Given the description of an element on the screen output the (x, y) to click on. 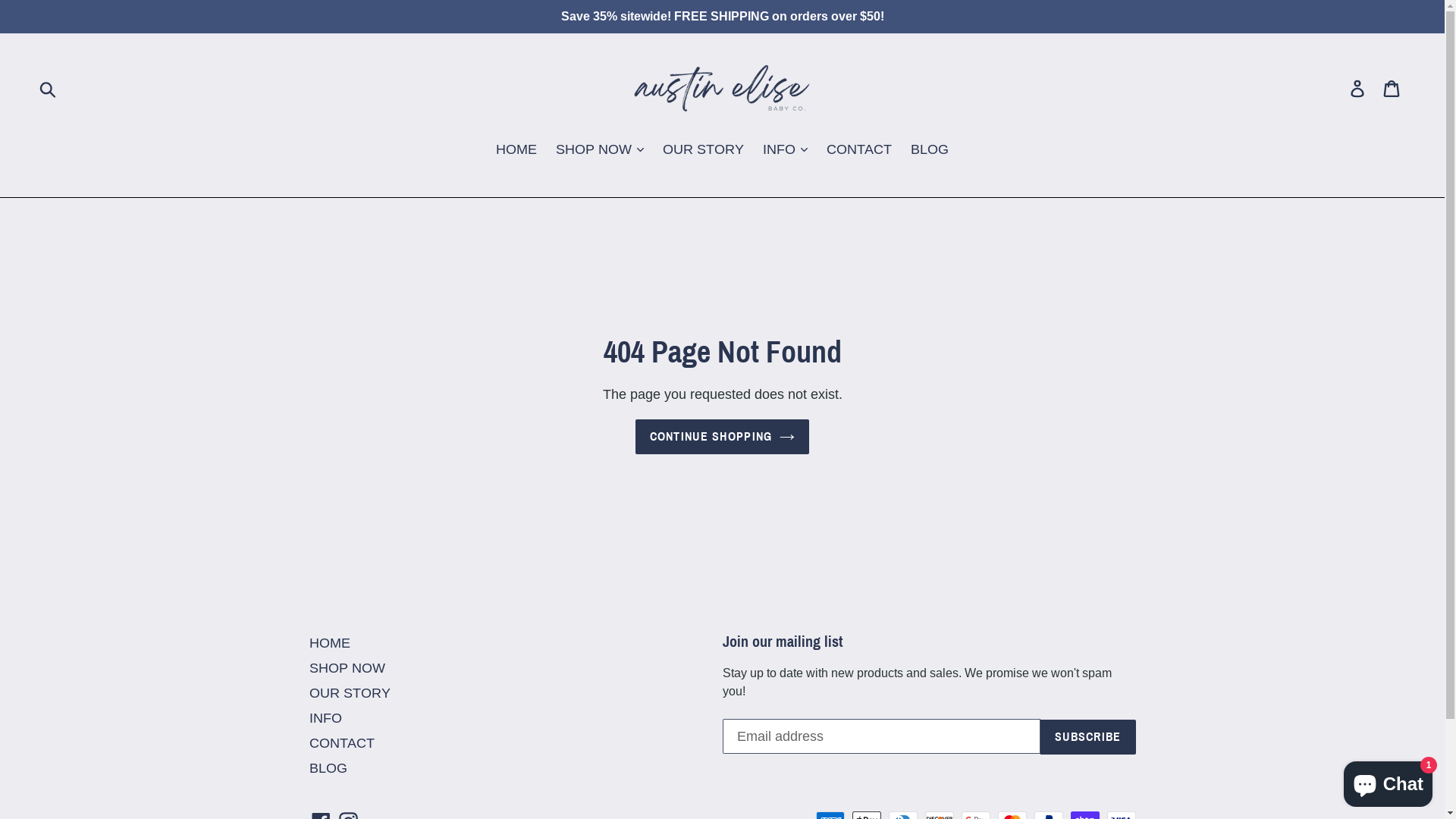
CONTACT Element type: text (859, 149)
Log in Element type: text (1358, 87)
Save 35% sitewide! FREE SHIPPING on orders over $50! Element type: text (722, 16)
BLOG Element type: text (929, 149)
HOME Element type: text (516, 149)
INFO Element type: text (325, 717)
HOME Element type: text (329, 642)
CONTACT Element type: text (341, 742)
BLOG Element type: text (328, 767)
OUR STORY Element type: text (349, 692)
SUBSCRIBE Element type: text (1087, 735)
Submit Element type: text (48, 87)
Shopify online store chat Element type: hover (1388, 780)
OUR STORY Element type: text (703, 149)
CONTINUE SHOPPING Element type: text (722, 436)
SHOP NOW Element type: text (347, 667)
Cart Element type: text (1392, 87)
